Given the description of an element on the screen output the (x, y) to click on. 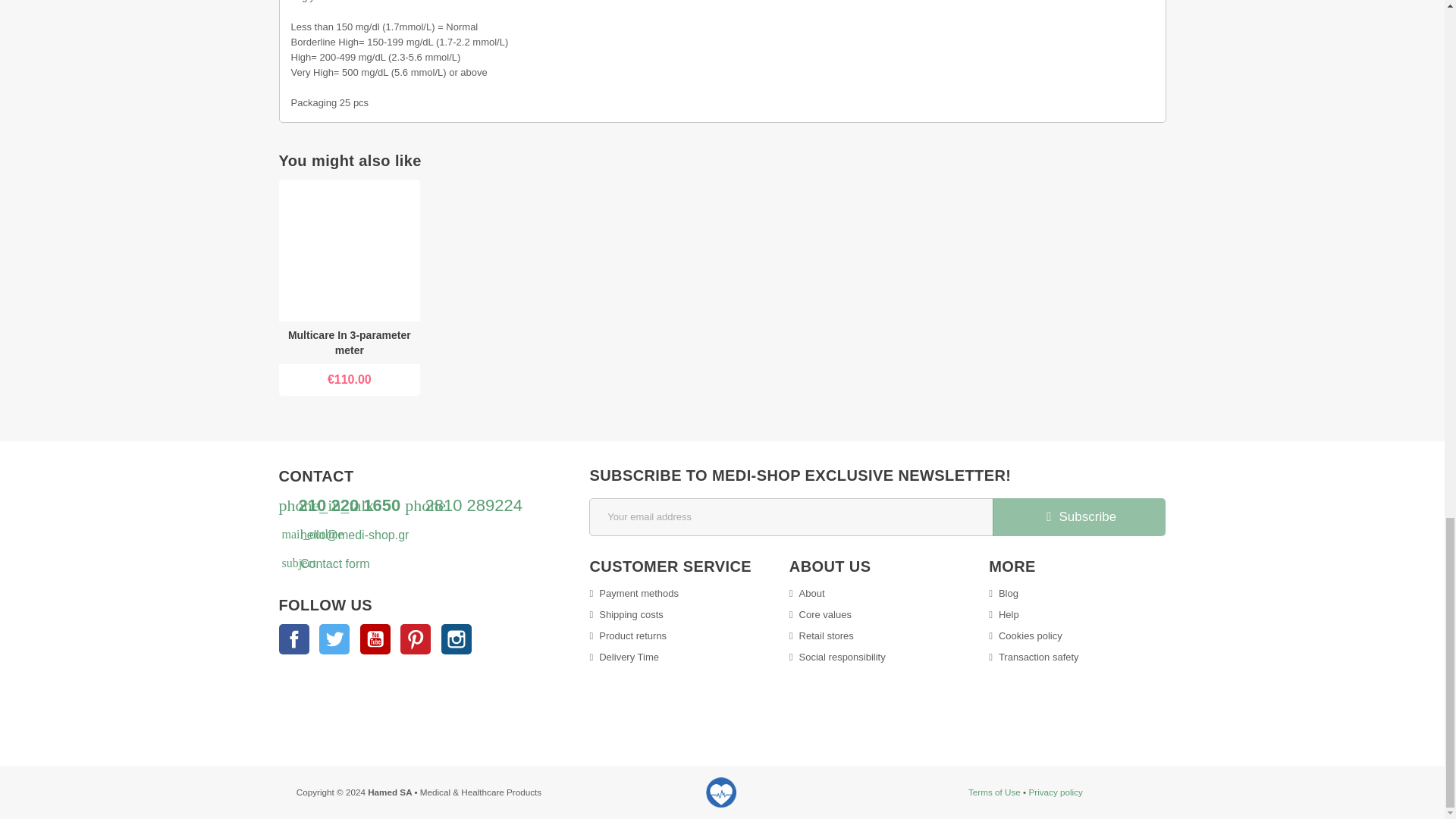
phone 2810 289224 (463, 505)
Retail stores (821, 635)
Core values (820, 614)
Multicare In 3-parameter meter (349, 342)
Multicare In 3-parameter meter (349, 342)
About us (807, 593)
YouTube (374, 639)
Twitter (333, 639)
Delivery Time (624, 656)
Product returns (627, 635)
Multicare In 3-parameter meter (349, 250)
Shipping costs (625, 614)
Instagram (456, 639)
Social responsibility (837, 656)
Pinterest (415, 639)
